Given the description of an element on the screen output the (x, y) to click on. 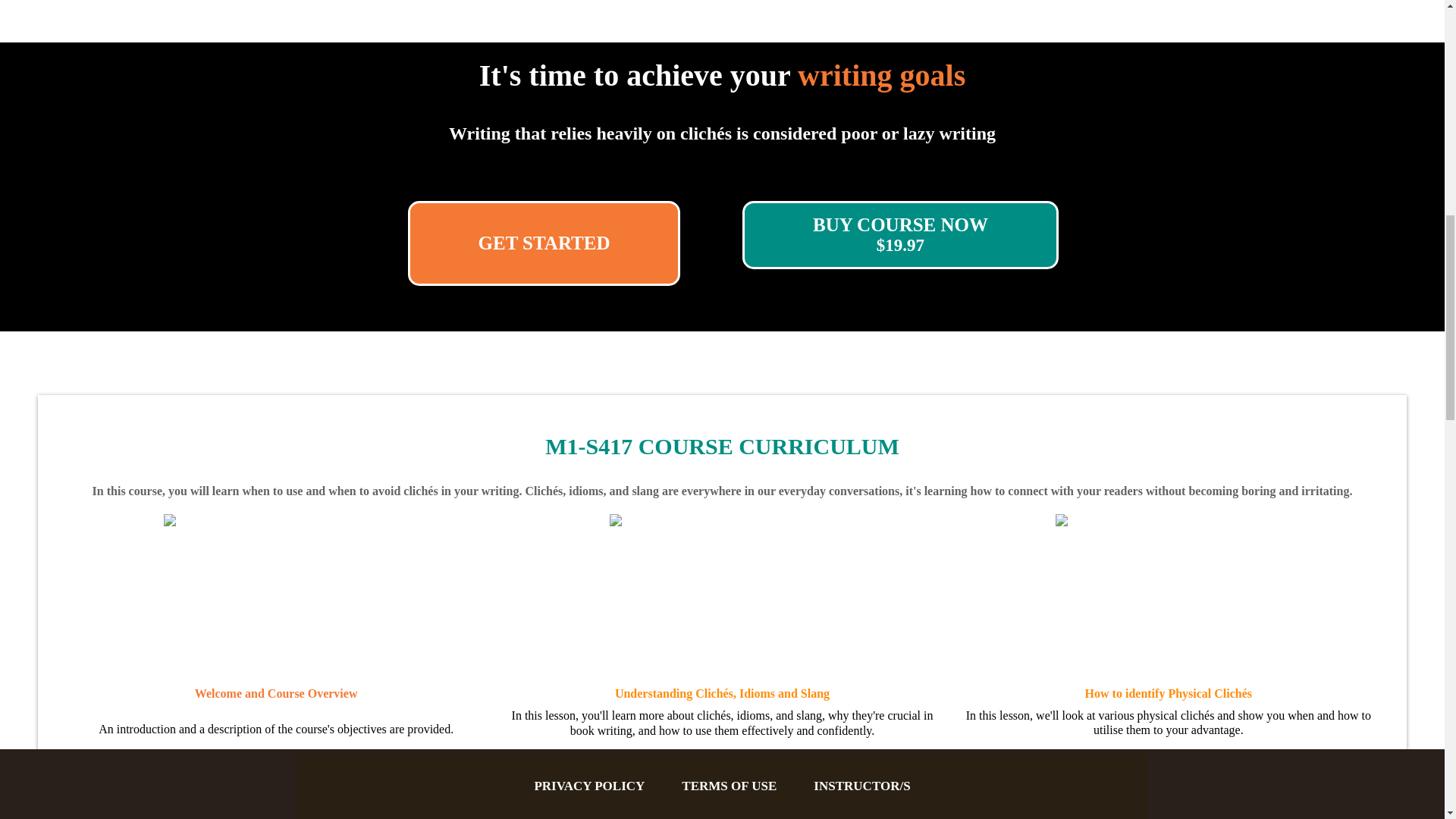
GET STARTED (544, 242)
